Given the description of an element on the screen output the (x, y) to click on. 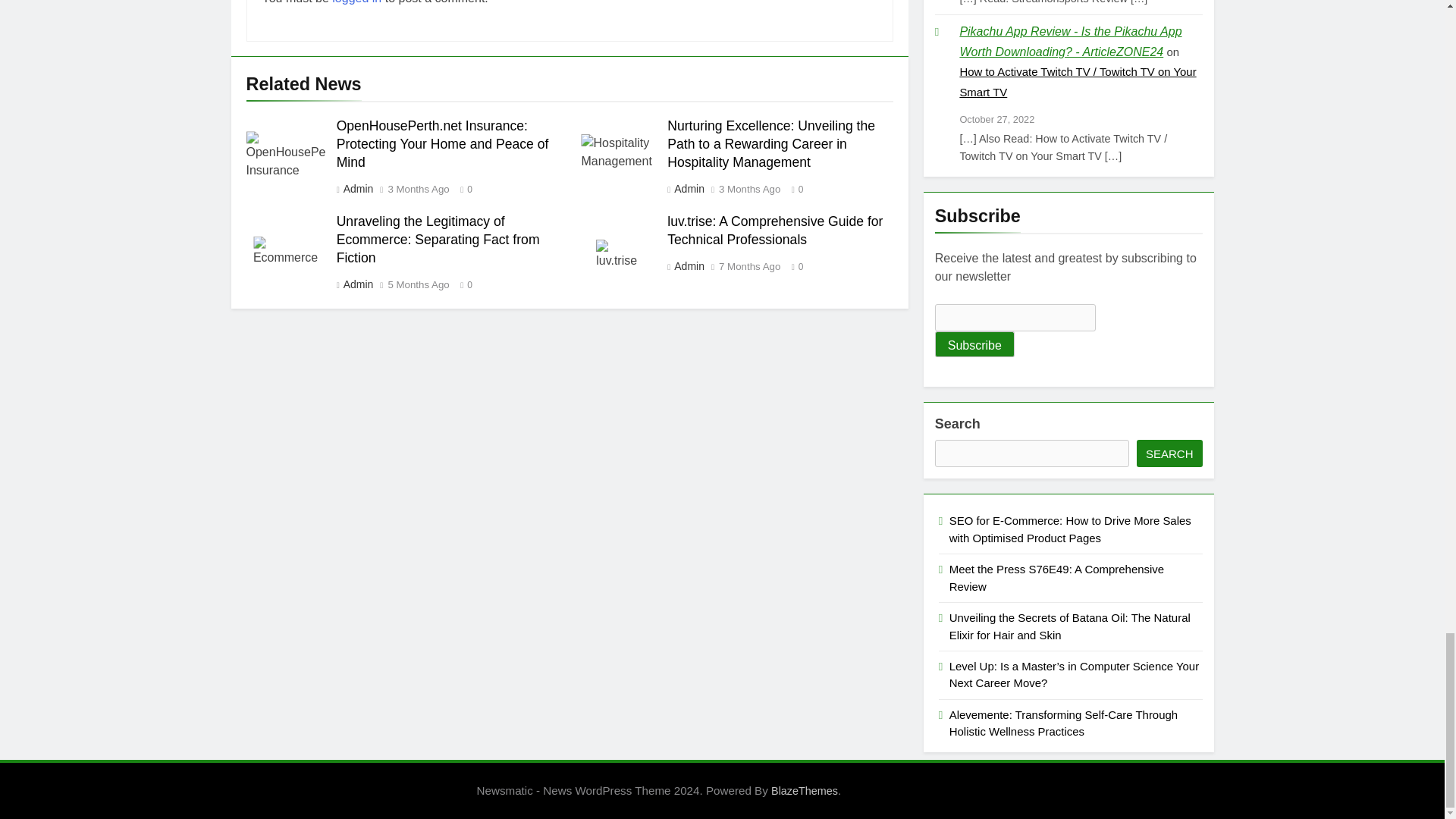
Subscribe (974, 344)
